Given the description of an element on the screen output the (x, y) to click on. 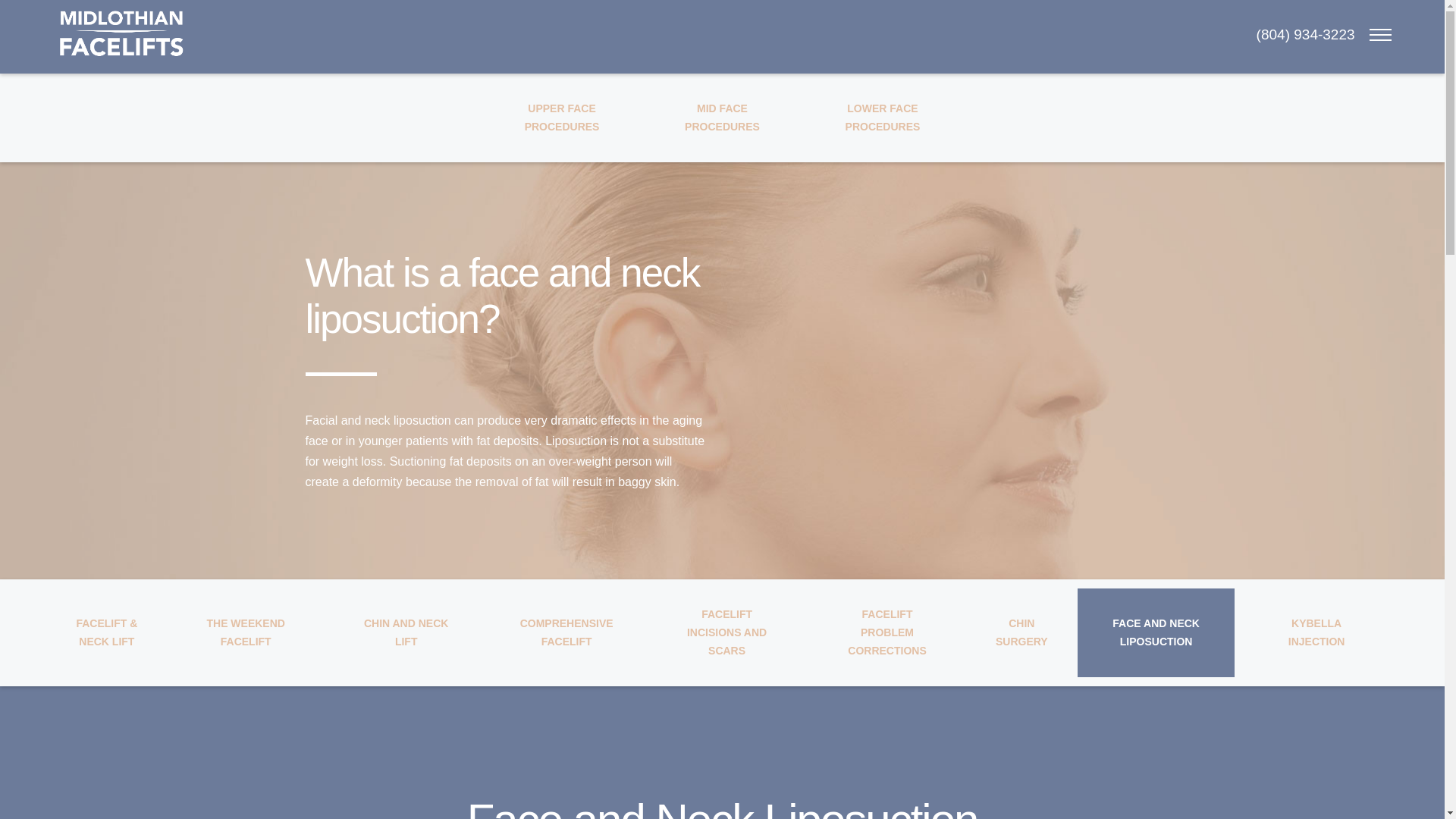
Menu (1380, 34)
MID FACE PROCEDURES (721, 117)
FACE AND NECK LIPOSUCTION (1155, 632)
THE WEEKEND FACELIFT (245, 632)
FACELIFT PROBLEM CORRECTIONS (887, 632)
KYBELLA INJECTION (1316, 632)
UPPER FACE PROCEDURES (561, 117)
CHIN AND NECK LIFT (405, 632)
FACELIFT INCISIONS AND SCARS (726, 632)
LOWER FACE PROCEDURES (881, 117)
COMPREHENSIVE FACELIFT (1021, 632)
